Given the description of an element on the screen output the (x, y) to click on. 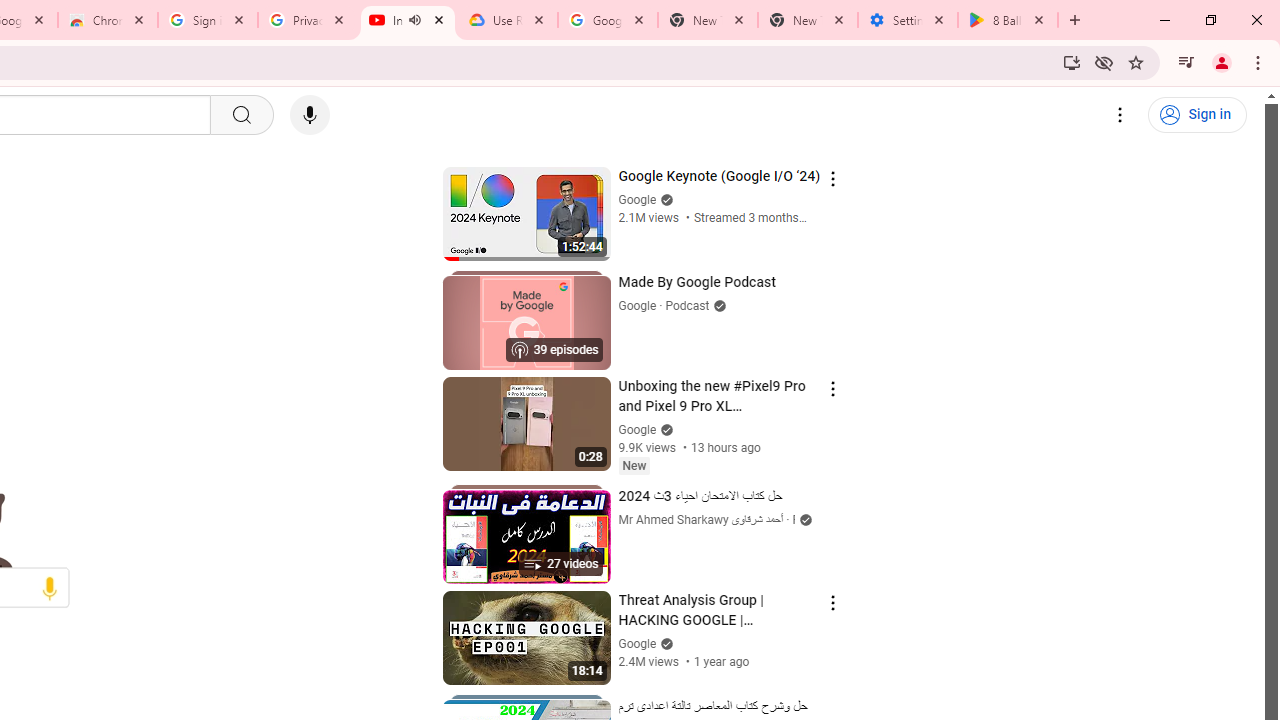
Action menu (832, 602)
Settings (1119, 115)
Chrome Web Store - Color themes by Chrome (107, 20)
New (634, 466)
Mute tab (414, 20)
